Given the description of an element on the screen output the (x, y) to click on. 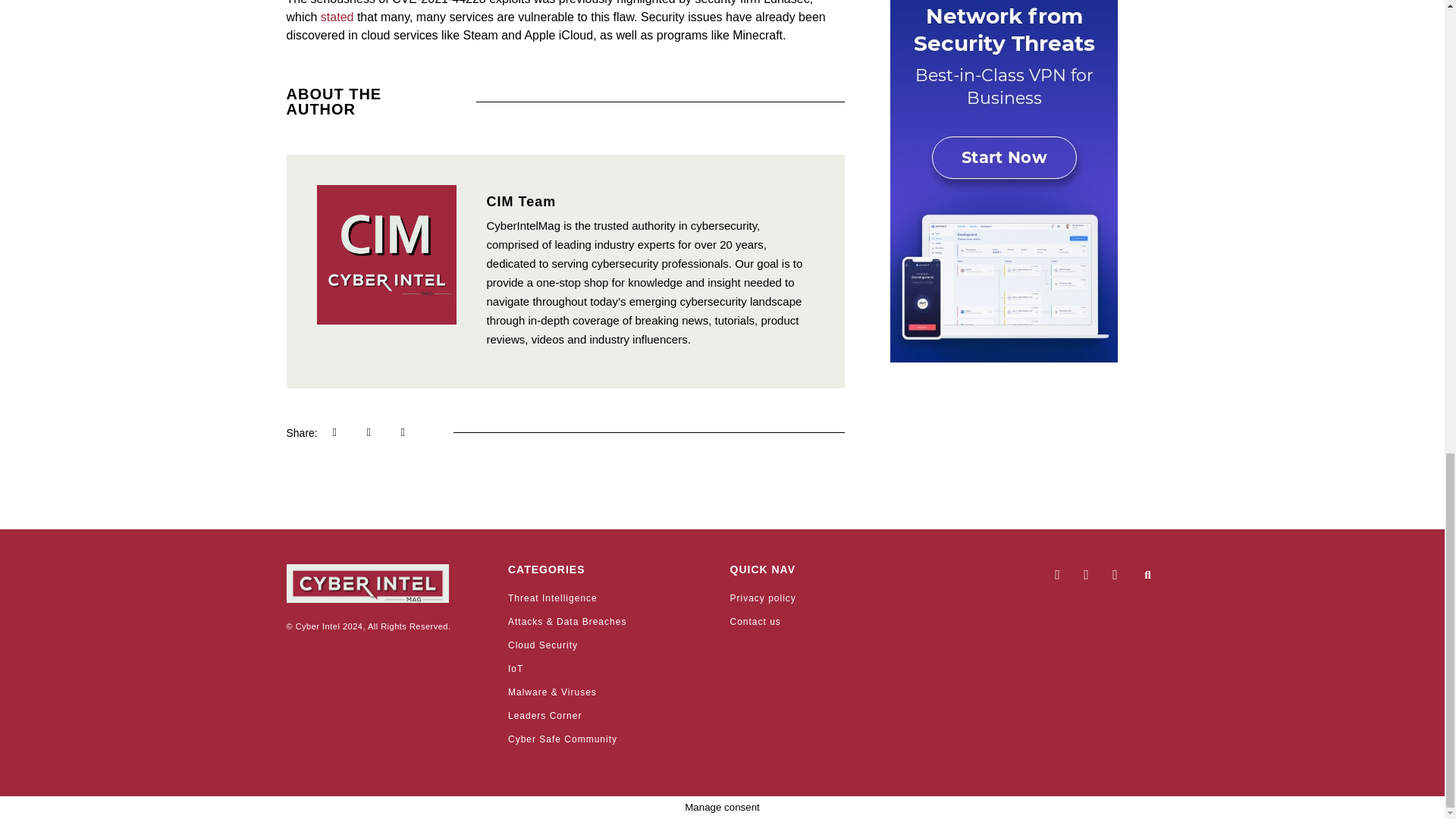
stated (336, 16)
